Given the description of an element on the screen output the (x, y) to click on. 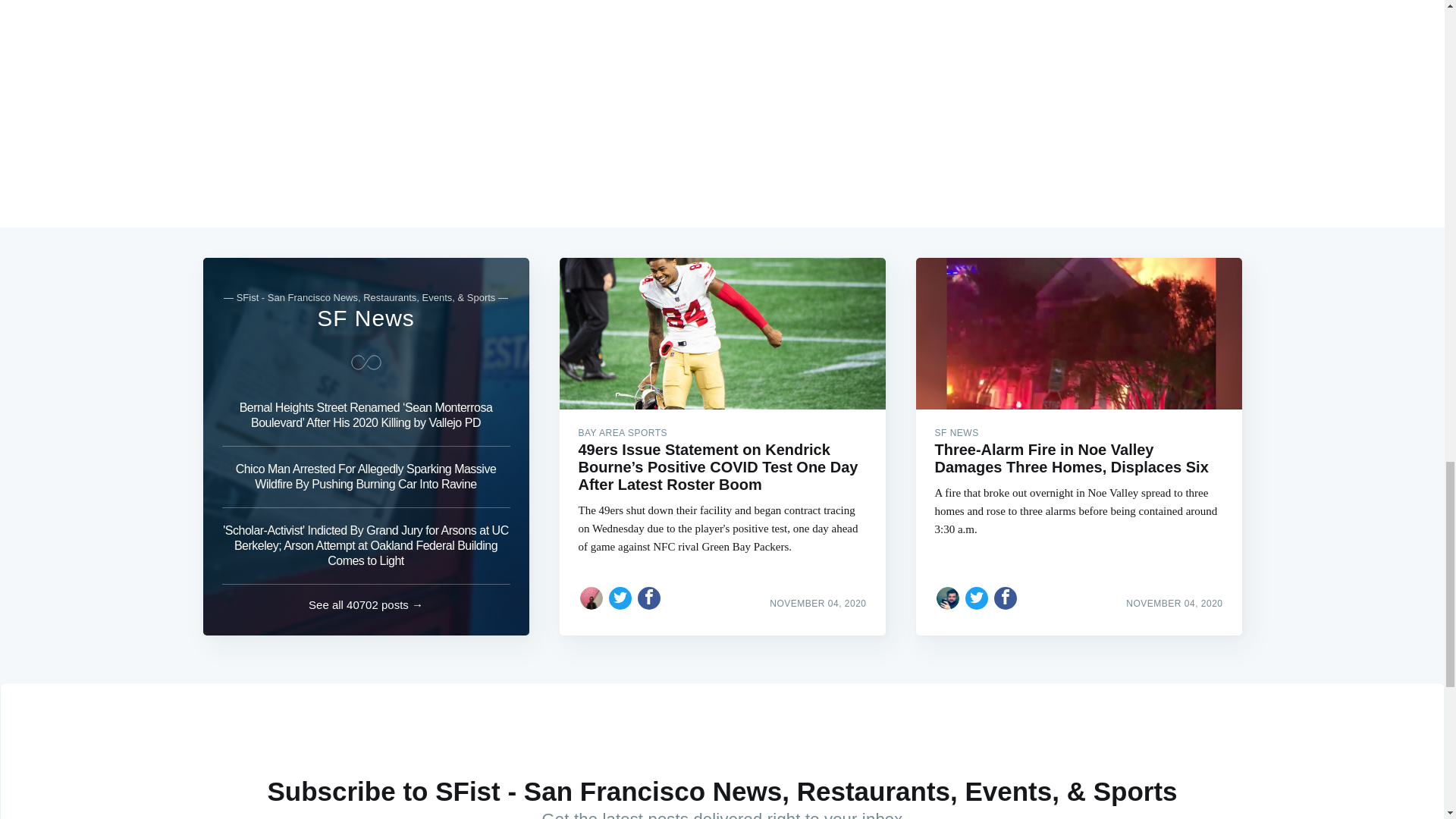
Share on Twitter (976, 597)
Share on Twitter (620, 597)
SF News (365, 317)
Share on Facebook (1004, 597)
Share on Facebook (649, 597)
